Given the description of an element on the screen output the (x, y) to click on. 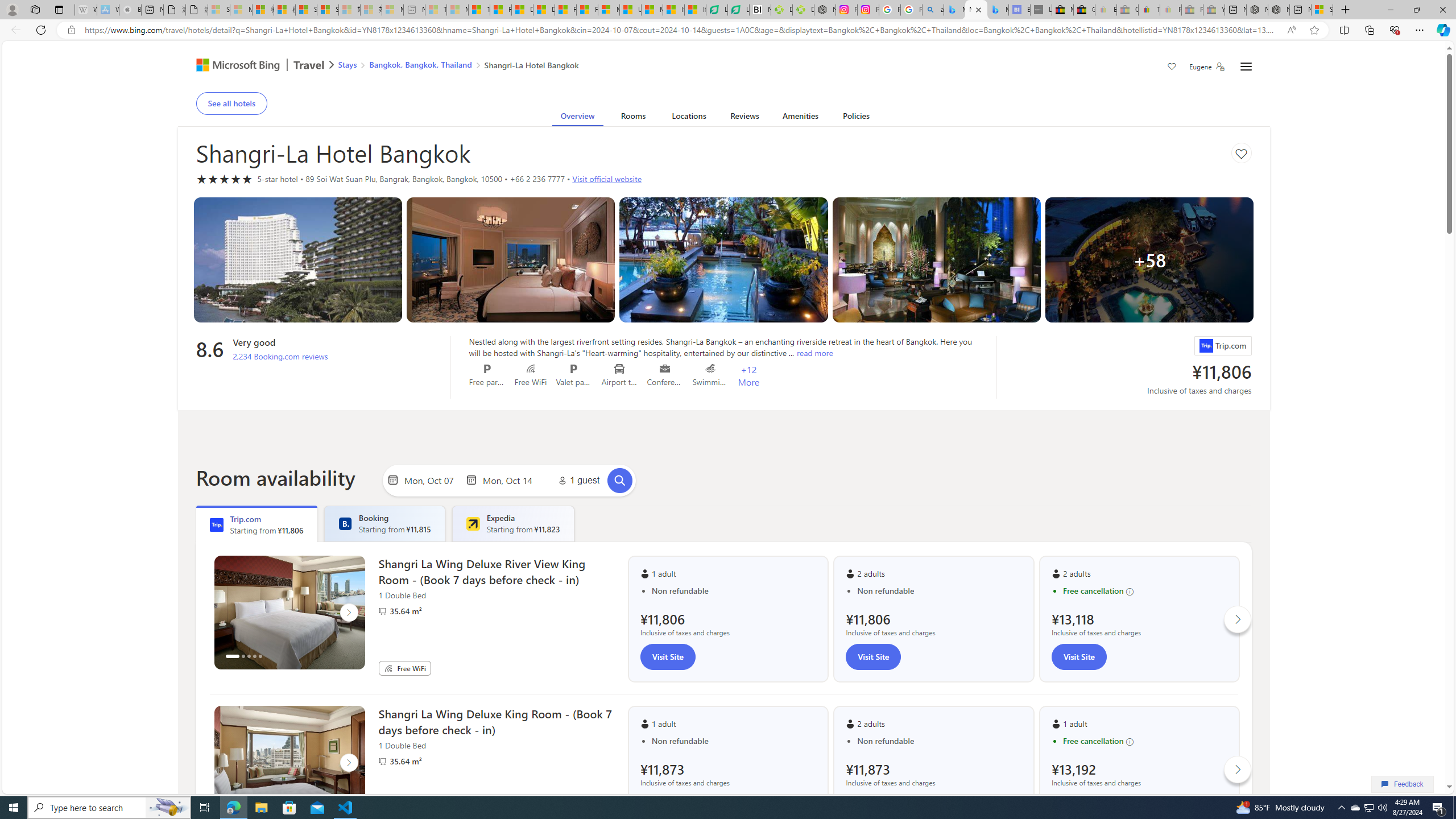
Food and Drink - MSN (500, 9)
See all hotels (231, 102)
Overview (576, 118)
Eugene (1206, 66)
Free parking (486, 368)
Stays (346, 64)
